Given the description of an element on the screen output the (x, y) to click on. 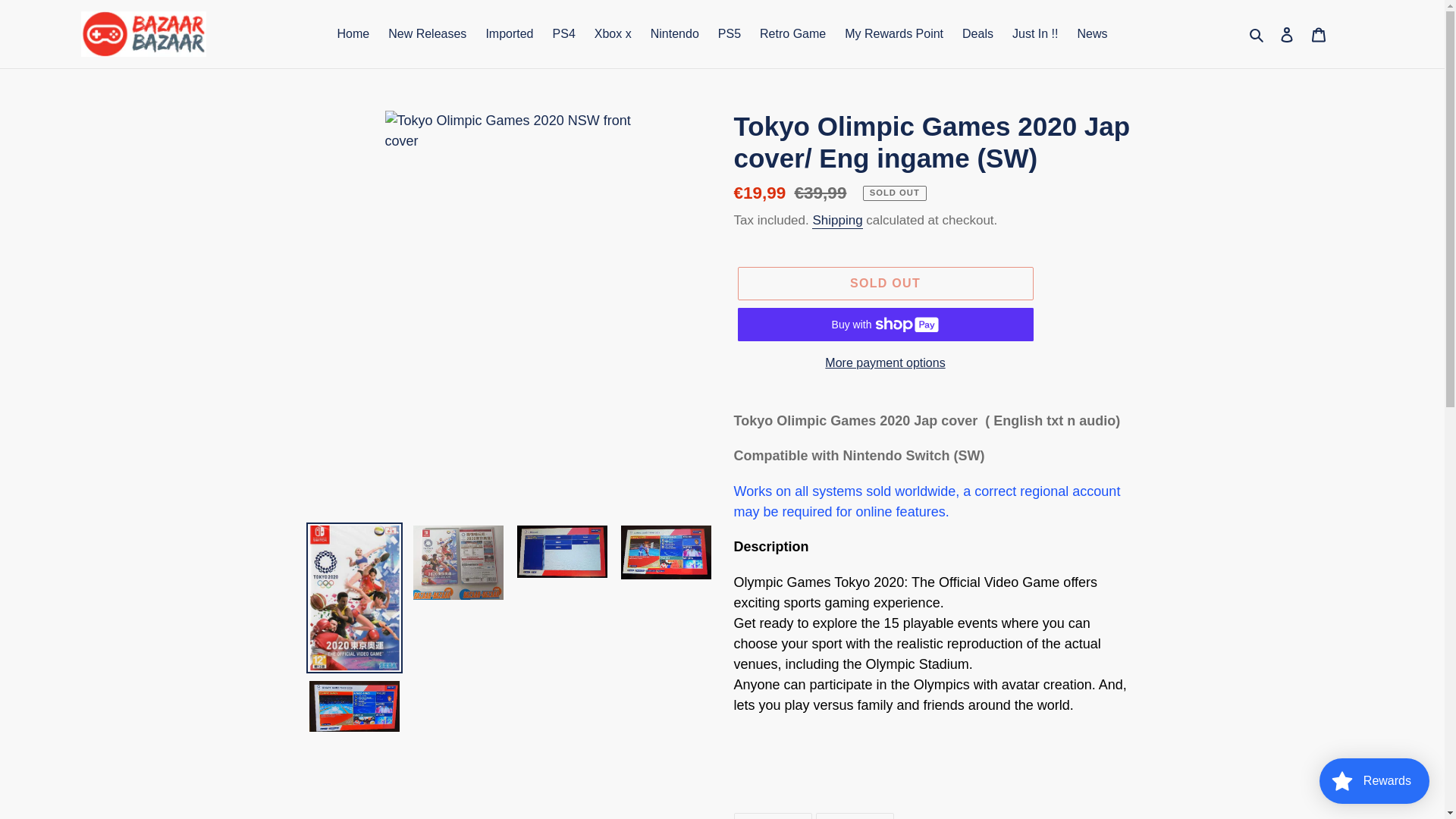
Deals (978, 33)
Imported (508, 33)
Home (353, 33)
PS5 (729, 33)
New Releases (427, 33)
Retro Game (792, 33)
Xbox x (612, 33)
My Rewards Point (893, 33)
Log in (1287, 34)
PS4 (563, 33)
Search (1257, 33)
Just In !! (1034, 33)
Nintendo (674, 33)
News (1091, 33)
Cart (1319, 34)
